Given the description of an element on the screen output the (x, y) to click on. 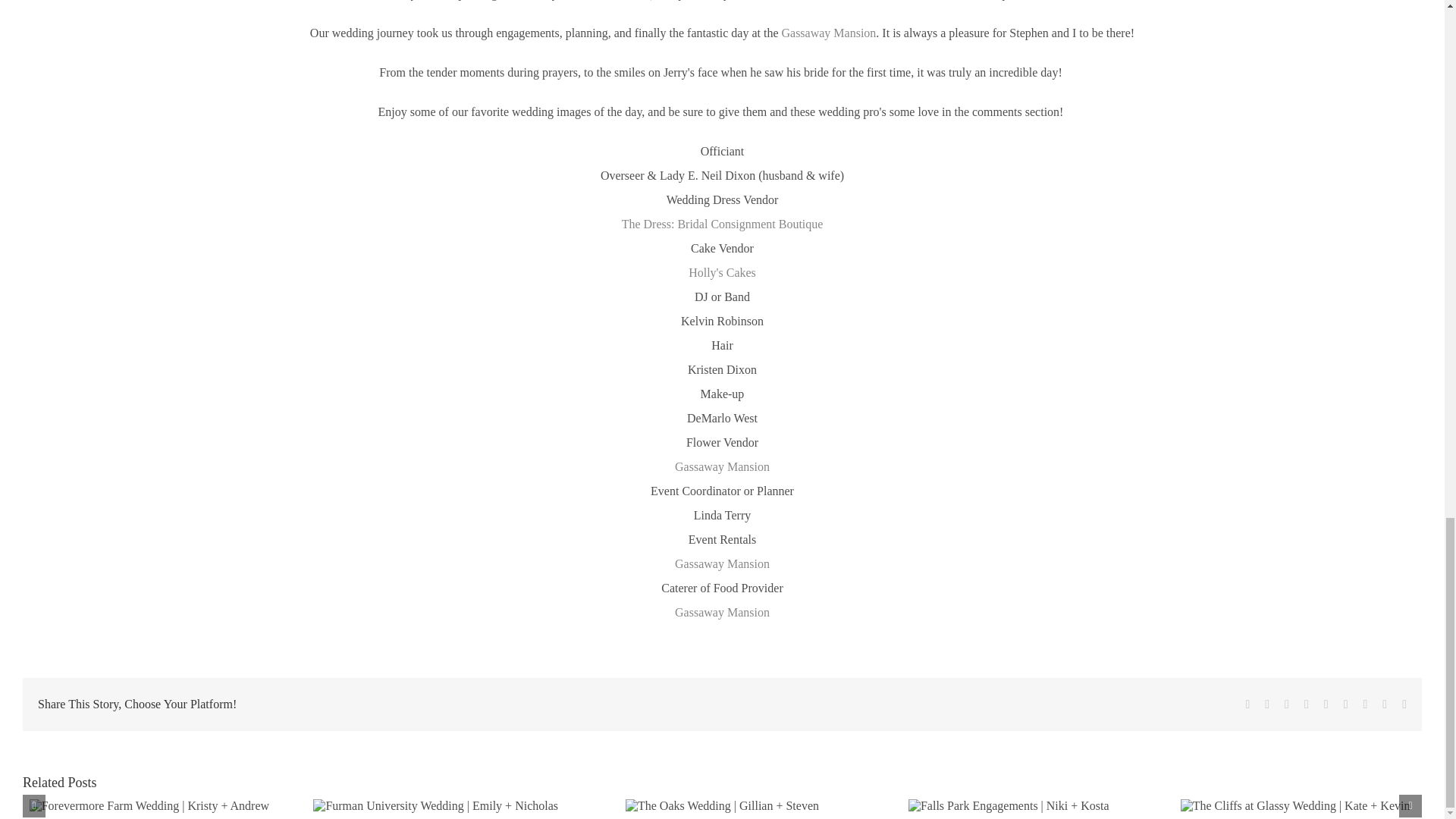
Gassaway Mansion (722, 563)
Gassaway Mansion (722, 466)
Holly's Cakes (721, 272)
The Dress: Bridal Consignment Boutique (722, 223)
Gassaway Mansion (722, 612)
Gassaway Mansion (828, 32)
